Given the description of an element on the screen output the (x, y) to click on. 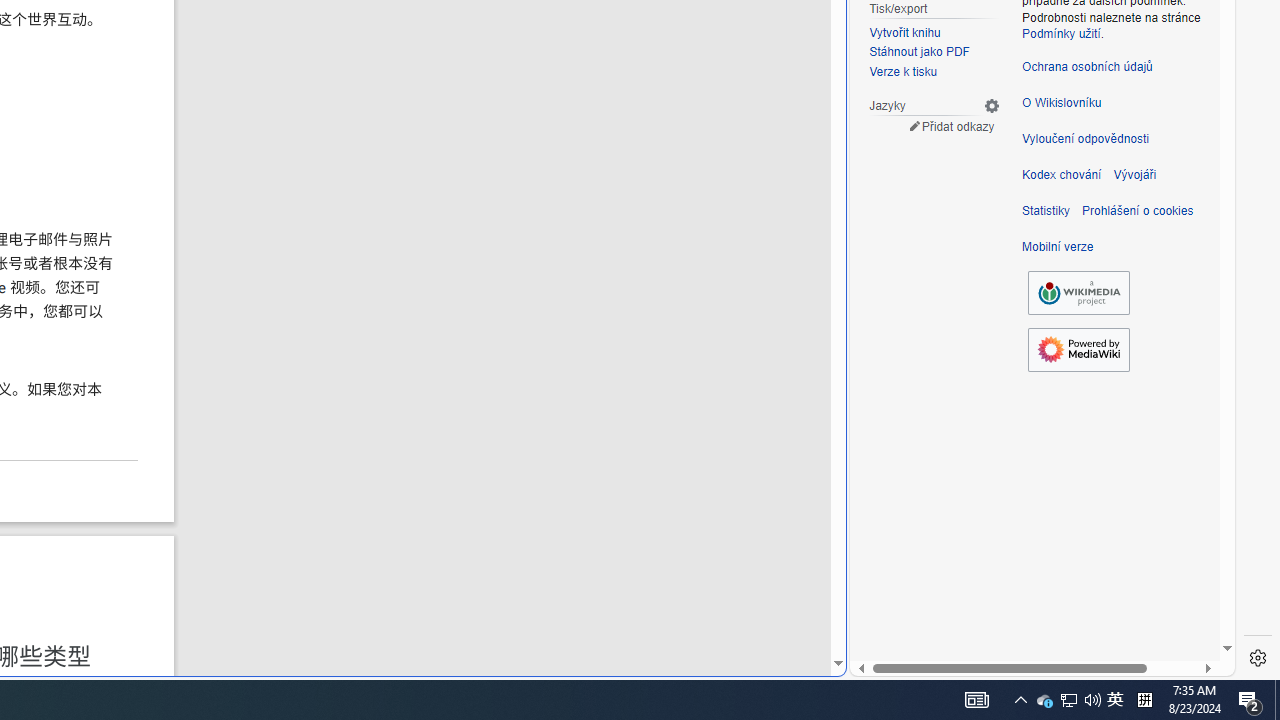
Statistiky (1046, 210)
Powered by MediaWiki (1078, 349)
Verze k tisku (903, 71)
AutomationID: footer-poweredbyico (1078, 349)
Wikimedia Foundation (1078, 293)
